Given the description of an element on the screen output the (x, y) to click on. 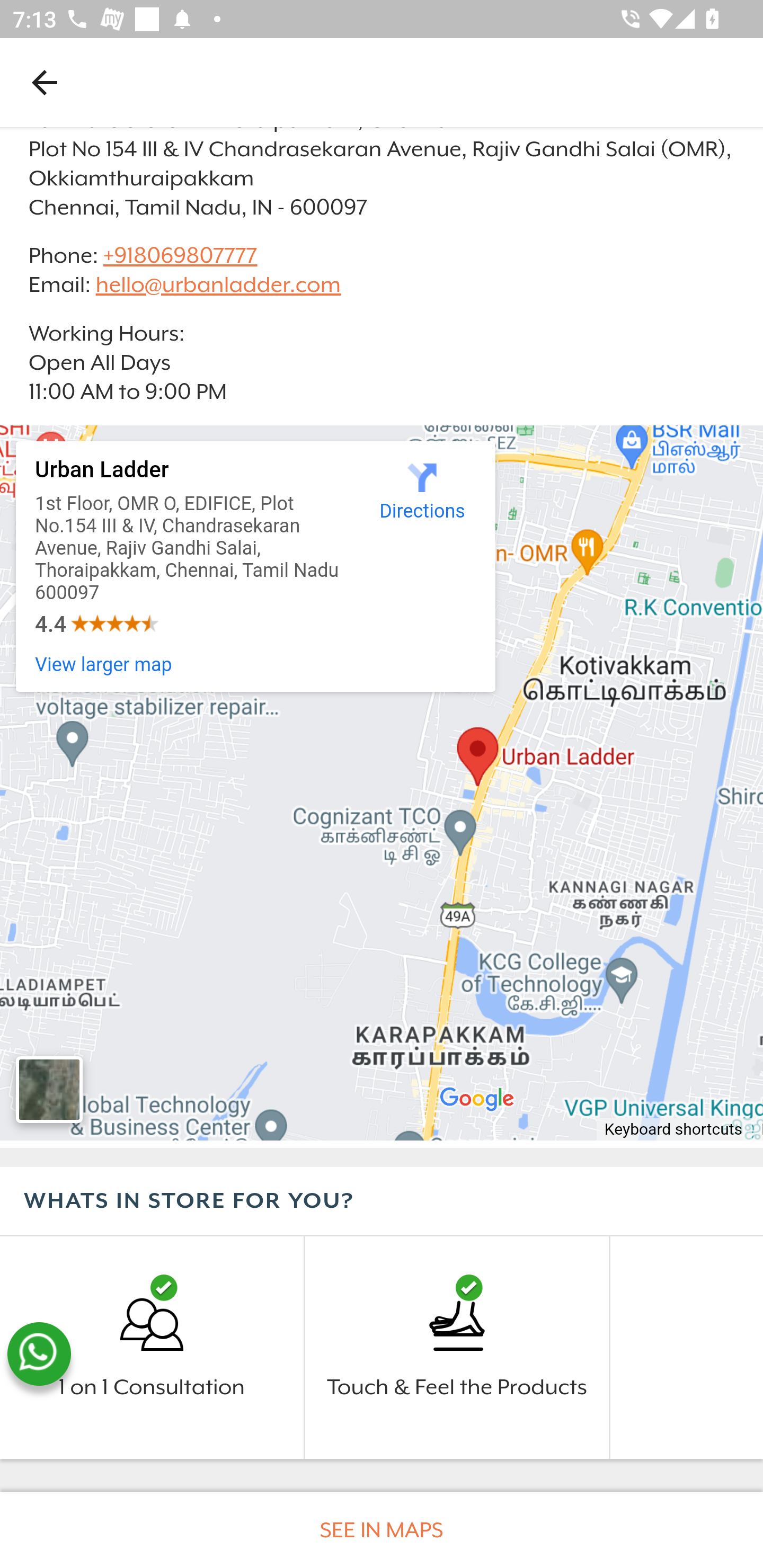
Navigate up (44, 82)
+918069807777 (179, 254)
hello@urbanladder.com (218, 285)
View larger map (104, 665)
Show satellite imagery (49, 1090)
Keyboard shortcuts (673, 1131)
whatsapp (38, 1353)
SEE IN MAPS (381, 1530)
